Given the description of an element on the screen output the (x, y) to click on. 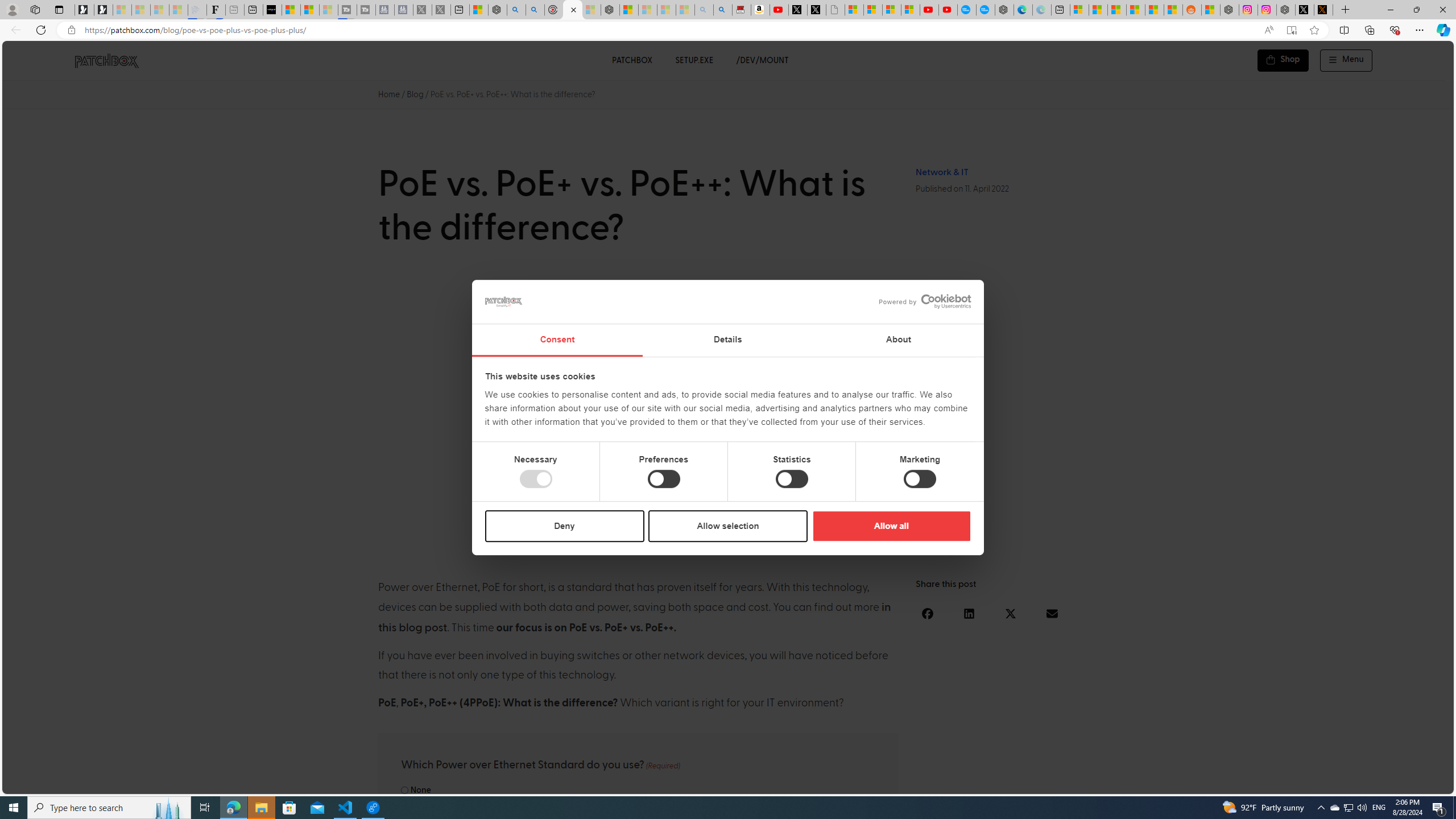
logo - opens in a new window (920, 301)
Allow selection (727, 525)
Language switcher : German (1231, 782)
Marketing (920, 479)
Language switcher : Polish (1300, 782)
Language switcher : Romanian (1368, 782)
